Given the description of an element on the screen output the (x, y) to click on. 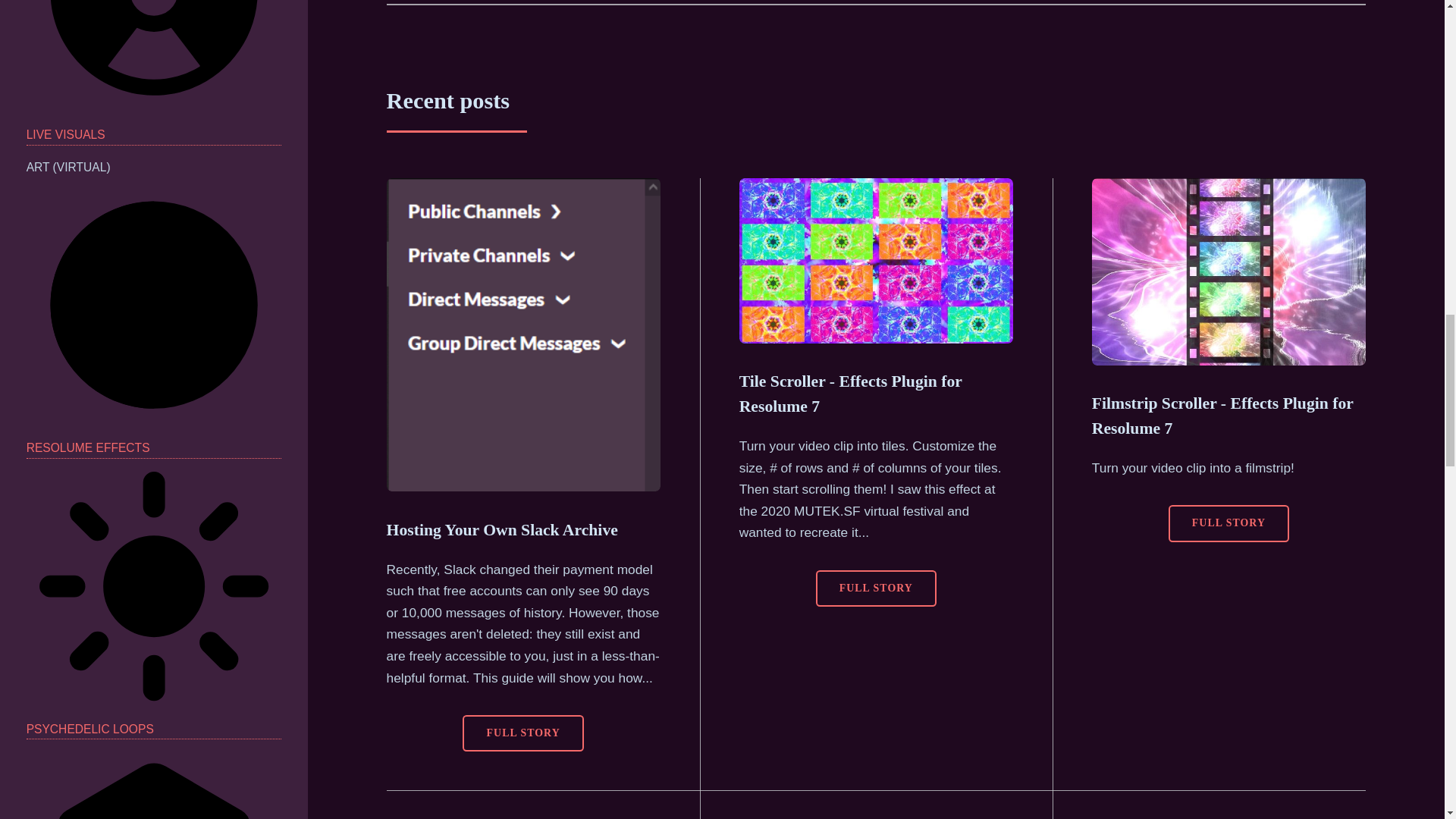
Tile Scroller - Effects Plugin for Resolume 7 (850, 393)
Hosting Your Own Slack Archive (502, 529)
FULL STORY (875, 588)
Filmstrip Scroller - Effects Plugin for Resolume 7 (1223, 415)
FULL STORY (1228, 523)
FULL STORY (523, 733)
